Given the description of an element on the screen output the (x, y) to click on. 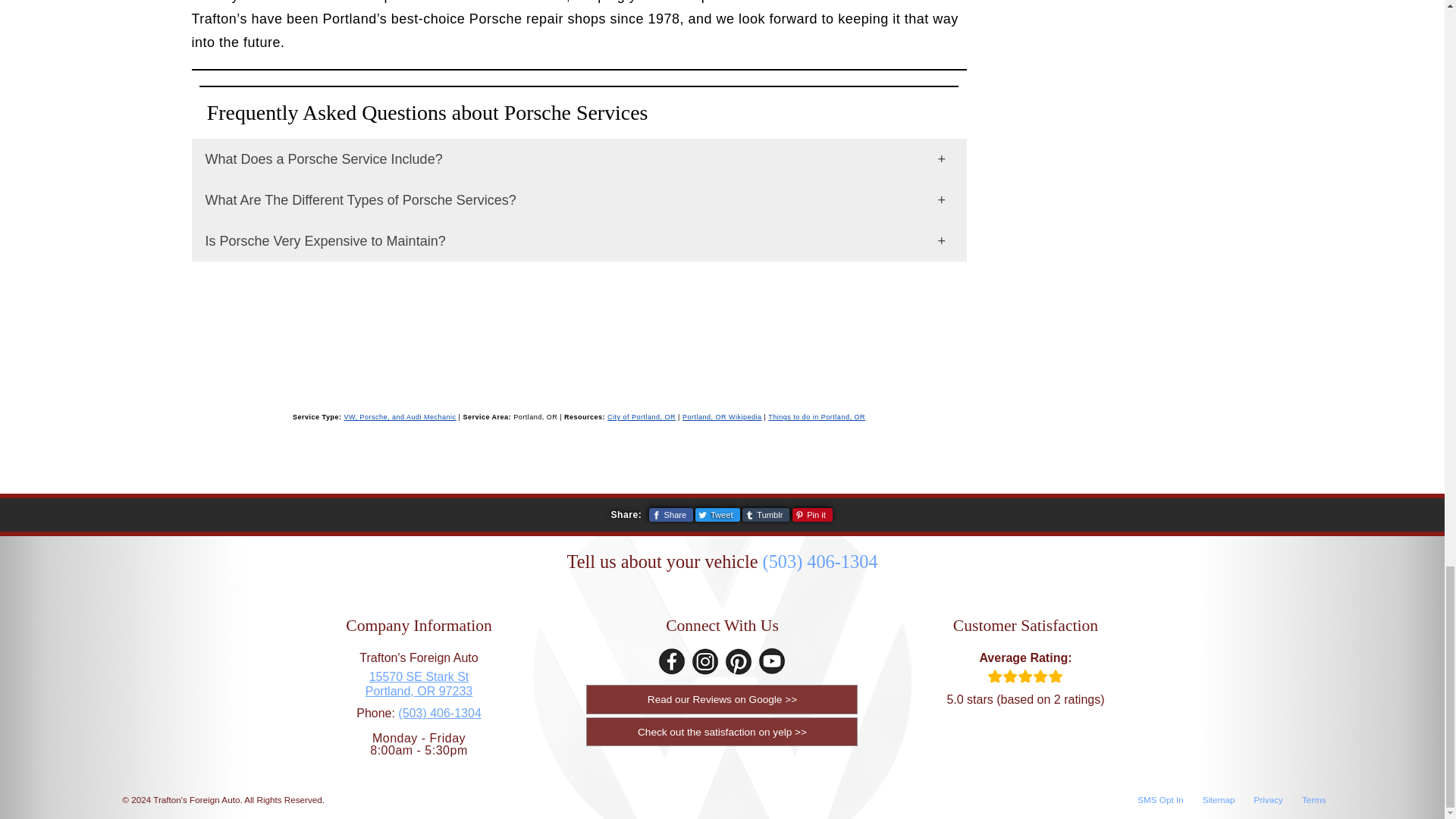
VW, Porsche, and Audi Mechanic (399, 416)
YouTube (772, 661)
Tweet (717, 514)
Things to do in Portland, OR (816, 416)
Pinterest (738, 661)
Share (671, 514)
Facebook (671, 661)
Portland, OR Wikipedia (721, 416)
Pin it (812, 514)
Yelp Reviews (721, 731)
Instagram (705, 661)
Google Reviews (721, 698)
City of Portland, OR (641, 416)
Tumblr (766, 514)
